Given the description of an element on the screen output the (x, y) to click on. 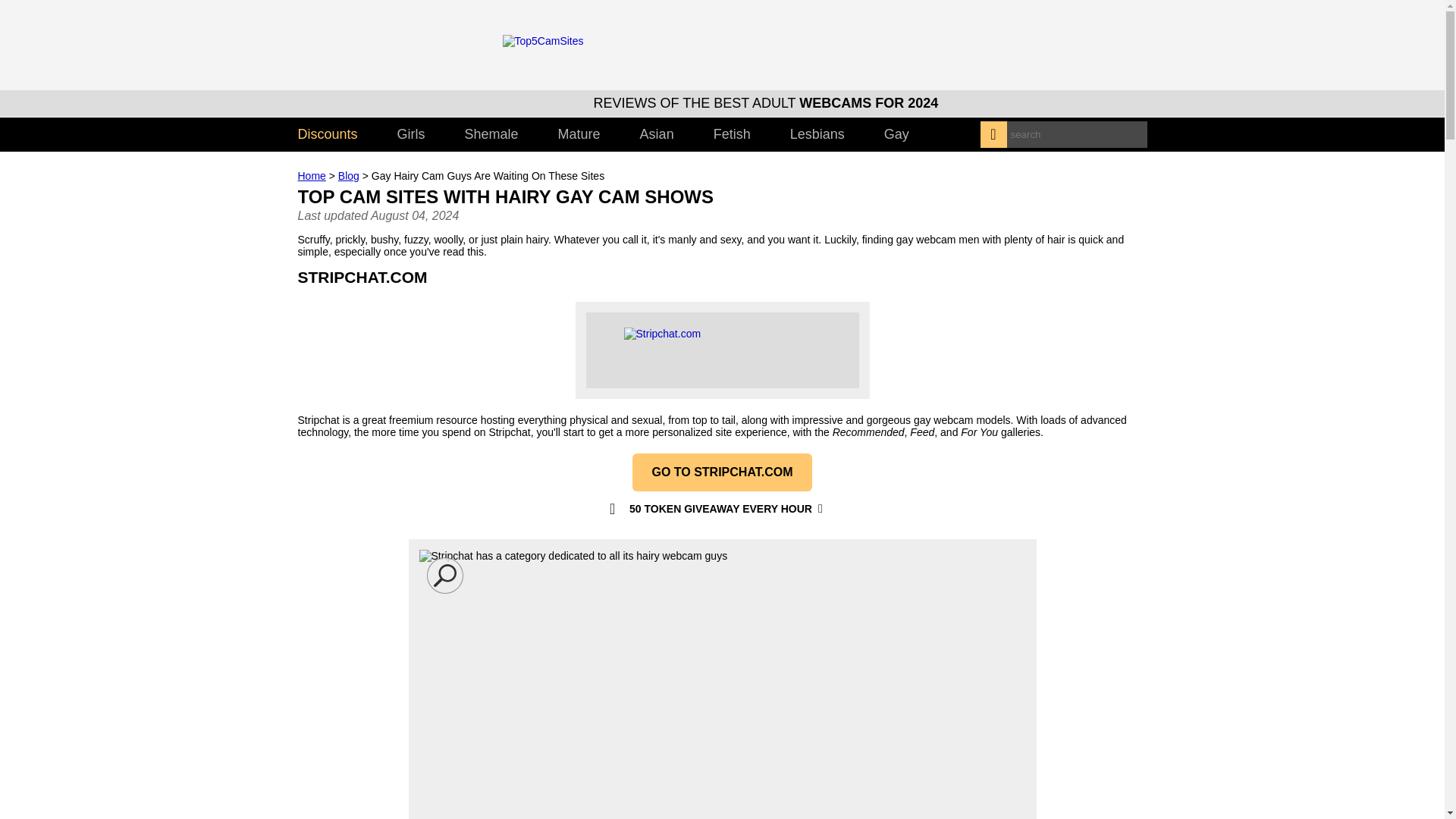
Discounts (337, 134)
Shemale (491, 134)
Top5CamSites.com (615, 40)
Girls (411, 134)
Asian (657, 134)
Lesbians (817, 134)
Fetish (732, 134)
Mature (579, 134)
